Given the description of an element on the screen output the (x, y) to click on. 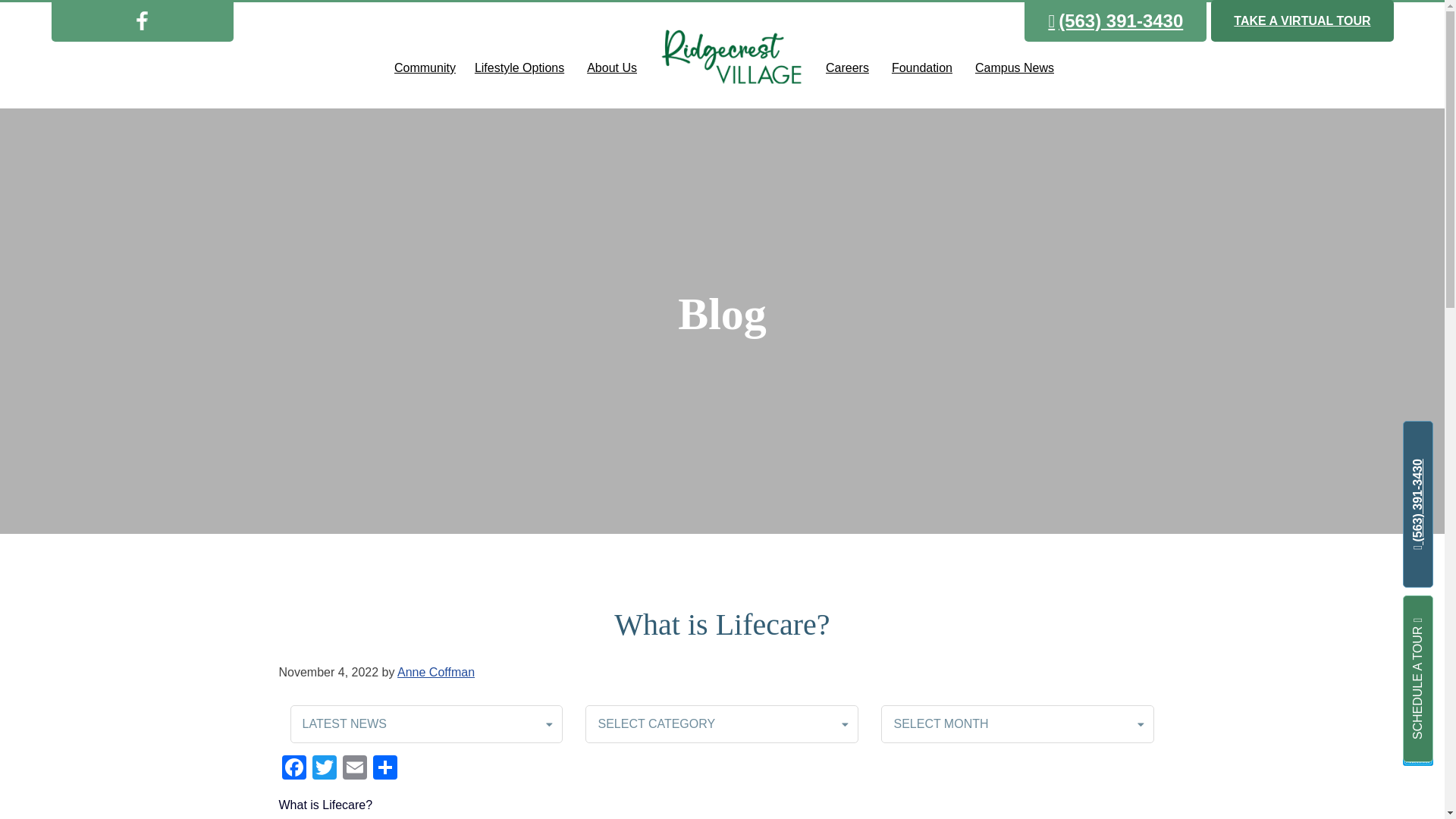
Lifestyle Options (519, 68)
Community (422, 68)
Careers (846, 68)
Follow us on Facebook (141, 20)
Twitter (323, 768)
Logo (731, 54)
Facebook (293, 768)
Foundation (921, 68)
About Us (611, 68)
TAKE A VIRTUAL TOUR (1302, 20)
